Given the description of an element on the screen output the (x, y) to click on. 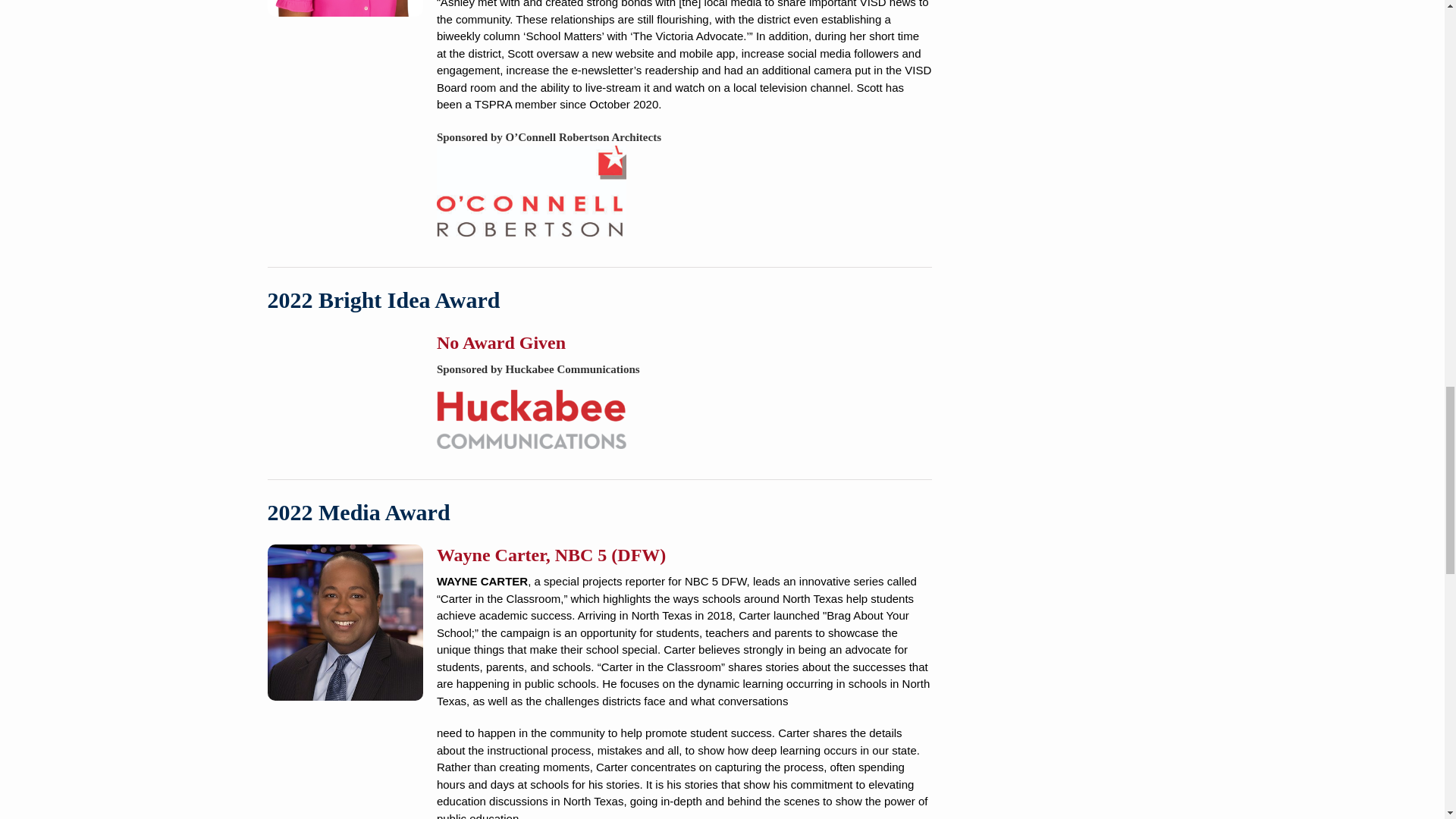
Huckabee Logo (531, 418)
Ashley-Scott (344, 7)
Wayne-Carter (344, 622)
